Given the description of an element on the screen output the (x, y) to click on. 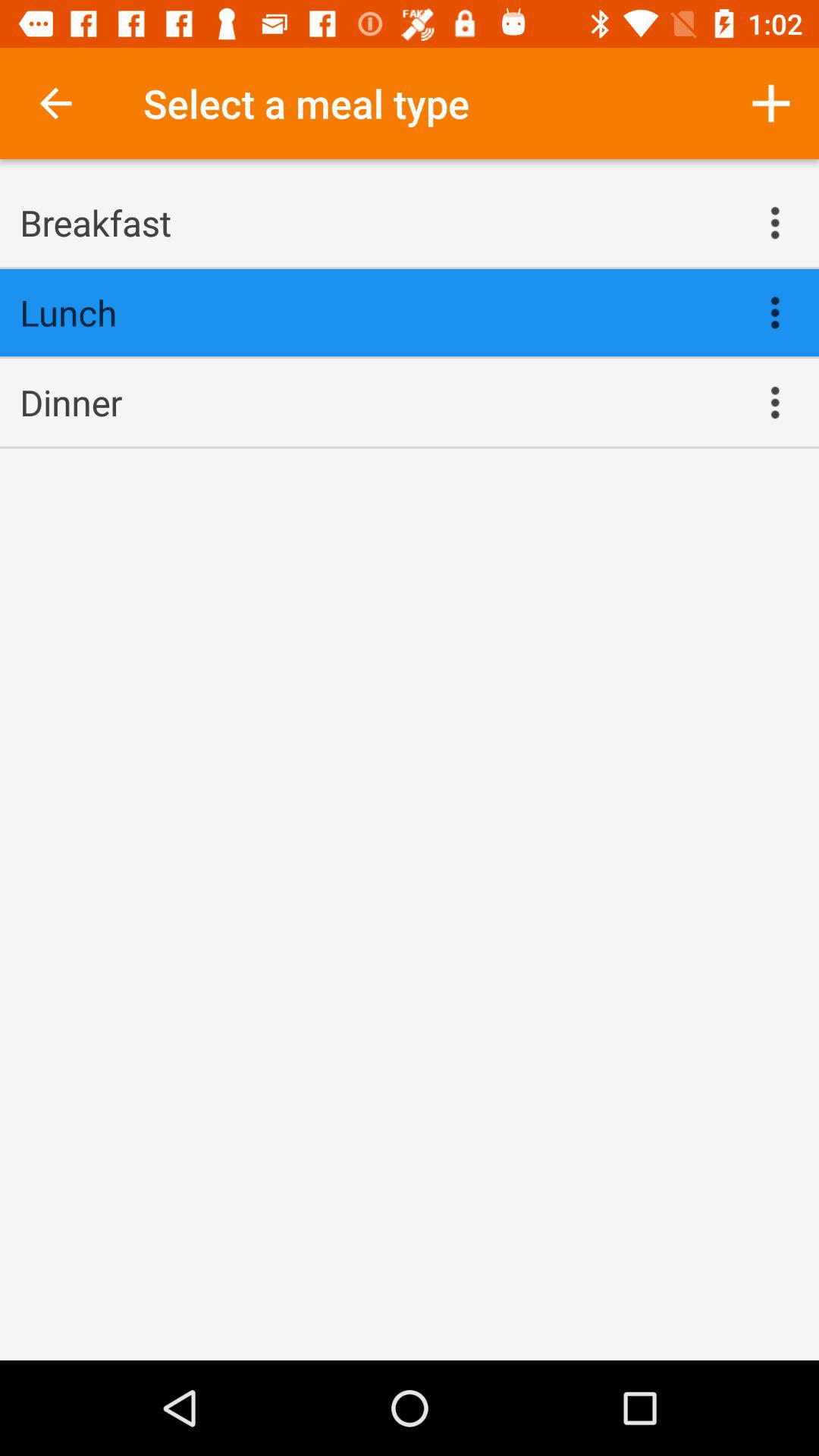
scroll until the breakfast icon (375, 222)
